Given the description of an element on the screen output the (x, y) to click on. 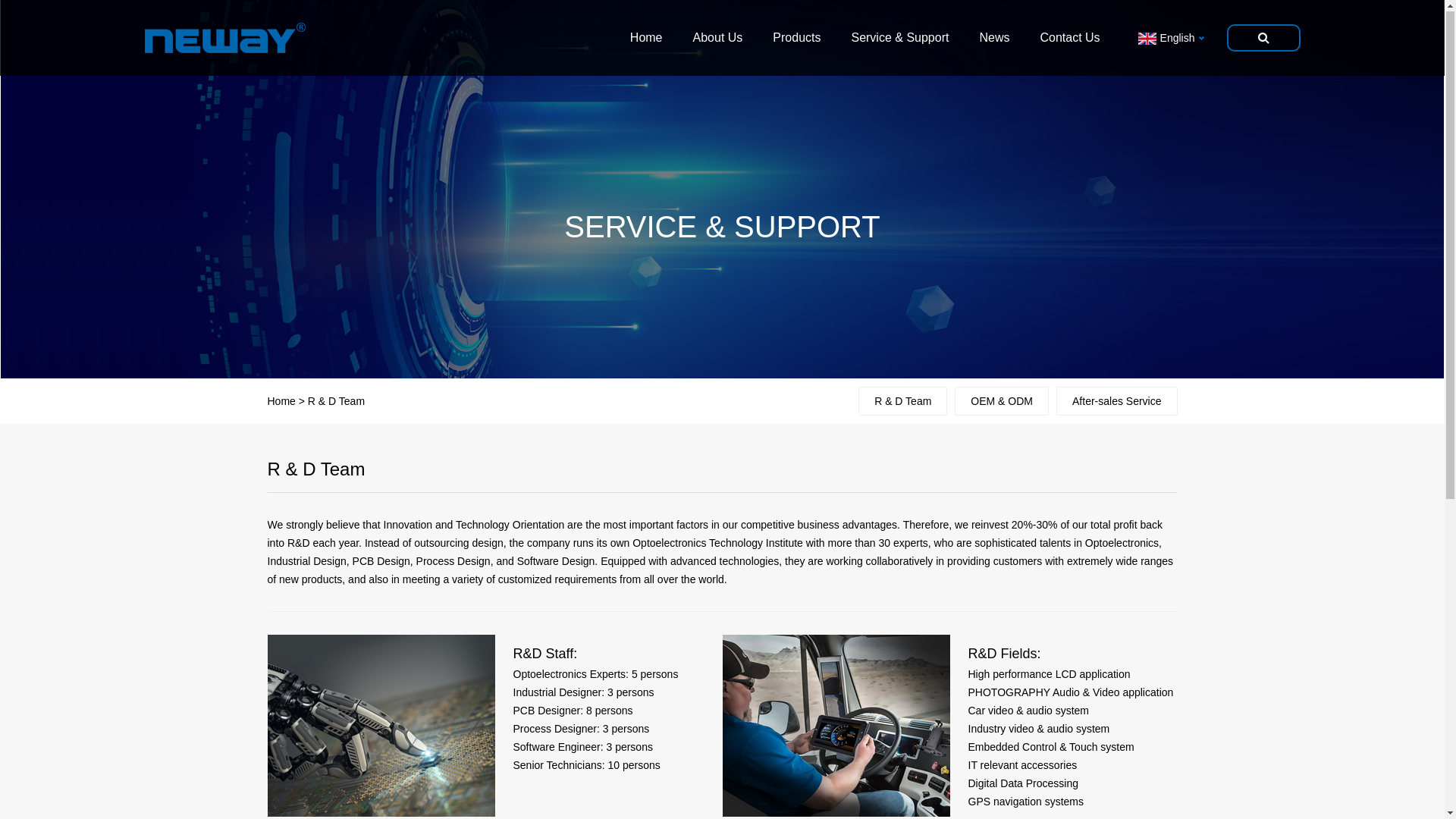
R & D Team Element type: text (902, 401)
About Us Element type: text (717, 38)
News Element type: text (993, 38)
After-sales Service Element type: text (1116, 401)
R & D Team Element type: text (335, 401)
Products Element type: text (796, 38)
Home Element type: text (280, 401)
Contact Us Element type: text (1069, 38)
Home Element type: text (646, 38)
OEM & ODM Element type: text (1001, 401)
Service & Support Element type: text (899, 38)
